Given the description of an element on the screen output the (x, y) to click on. 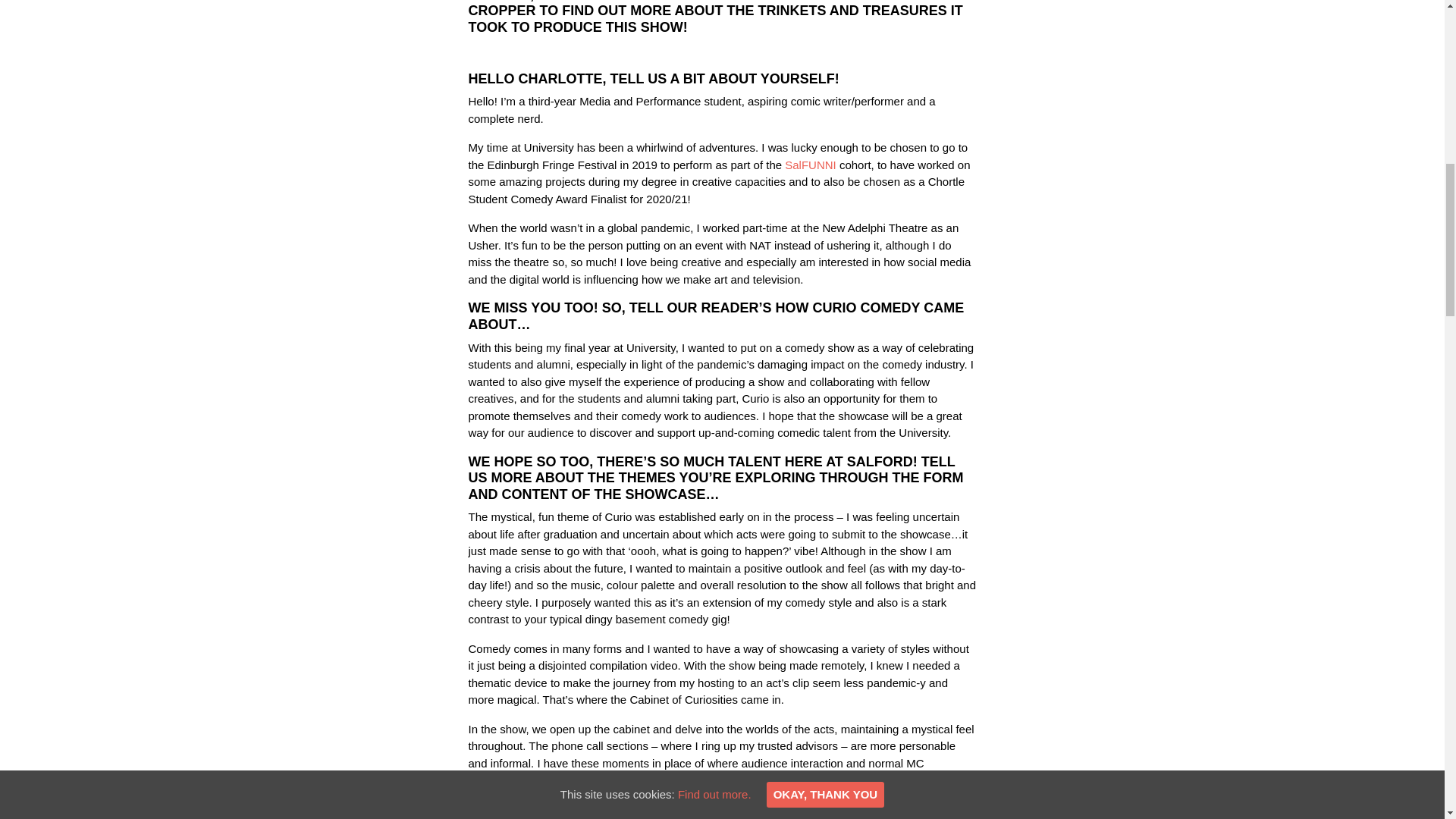
SalFUNNI (809, 164)
